Given the description of an element on the screen output the (x, y) to click on. 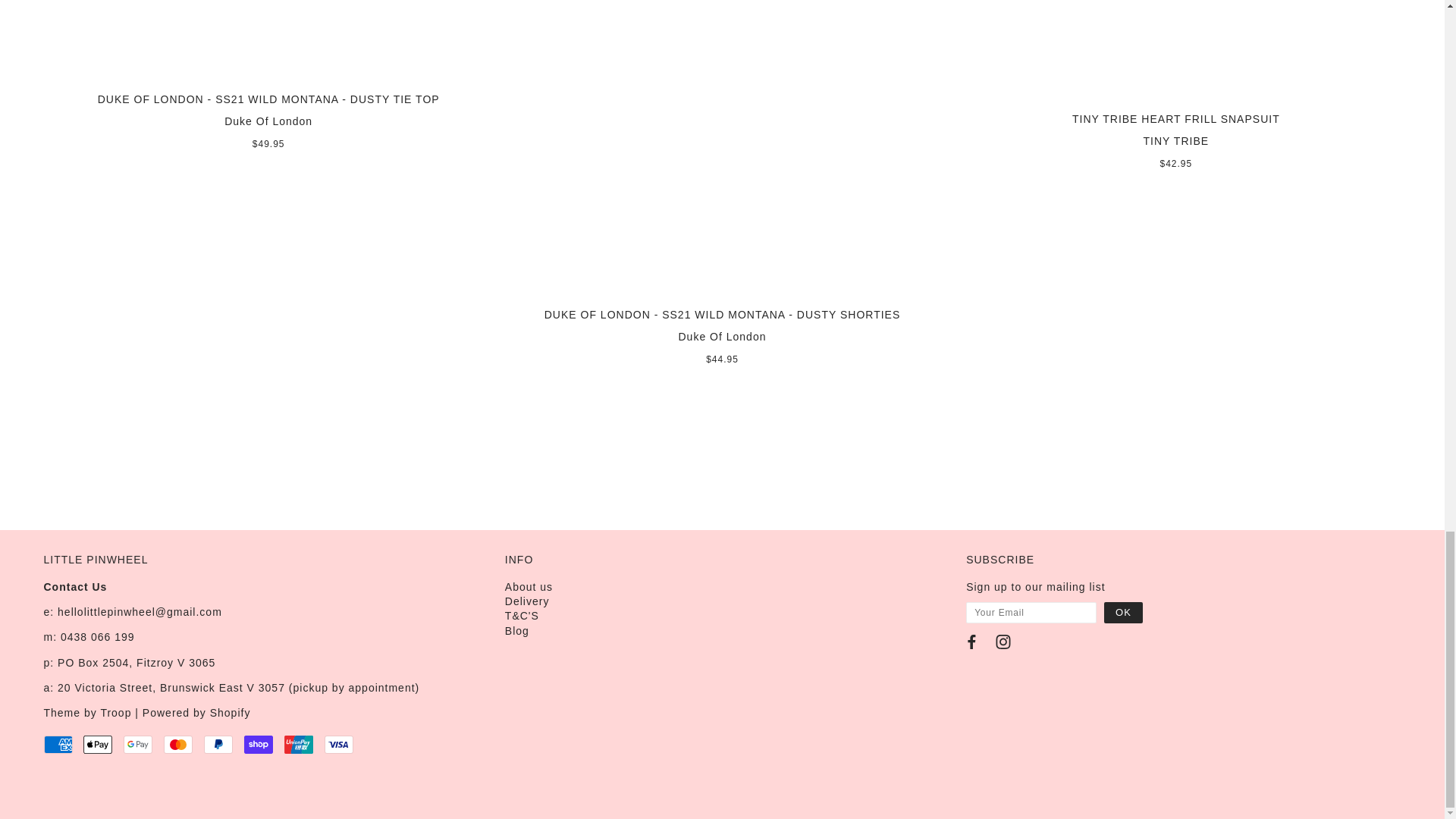
Google Pay (137, 744)
Apple Pay (97, 744)
American Express (57, 744)
Mastercard (177, 744)
Shop Pay (258, 744)
Delivery (527, 601)
OK (1122, 612)
Blog (517, 630)
Visa (338, 744)
About us (529, 586)
PayPal (217, 744)
Union Pay (298, 744)
